Given the description of an element on the screen output the (x, y) to click on. 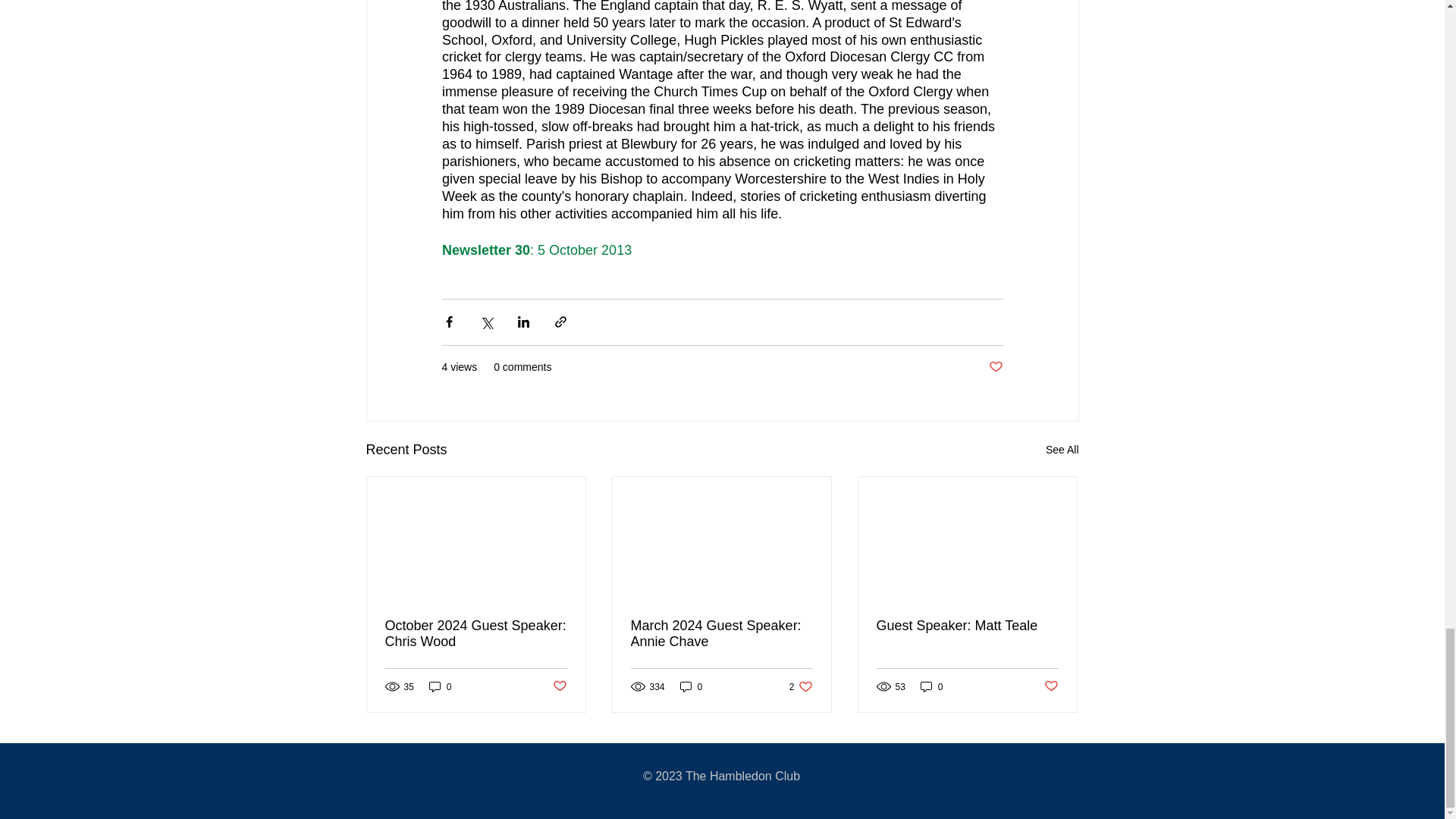
0 (931, 686)
0 (691, 686)
March 2024 Guest Speaker: Annie Chave (721, 634)
Guest Speaker: Matt Teale (967, 625)
Post not marked as liked (558, 686)
0 (440, 686)
October 2024 Guest Speaker: Chris Wood (476, 634)
Post not marked as liked (995, 367)
See All (1061, 449)
Post not marked as liked (1050, 686)
